Given the description of an element on the screen output the (x, y) to click on. 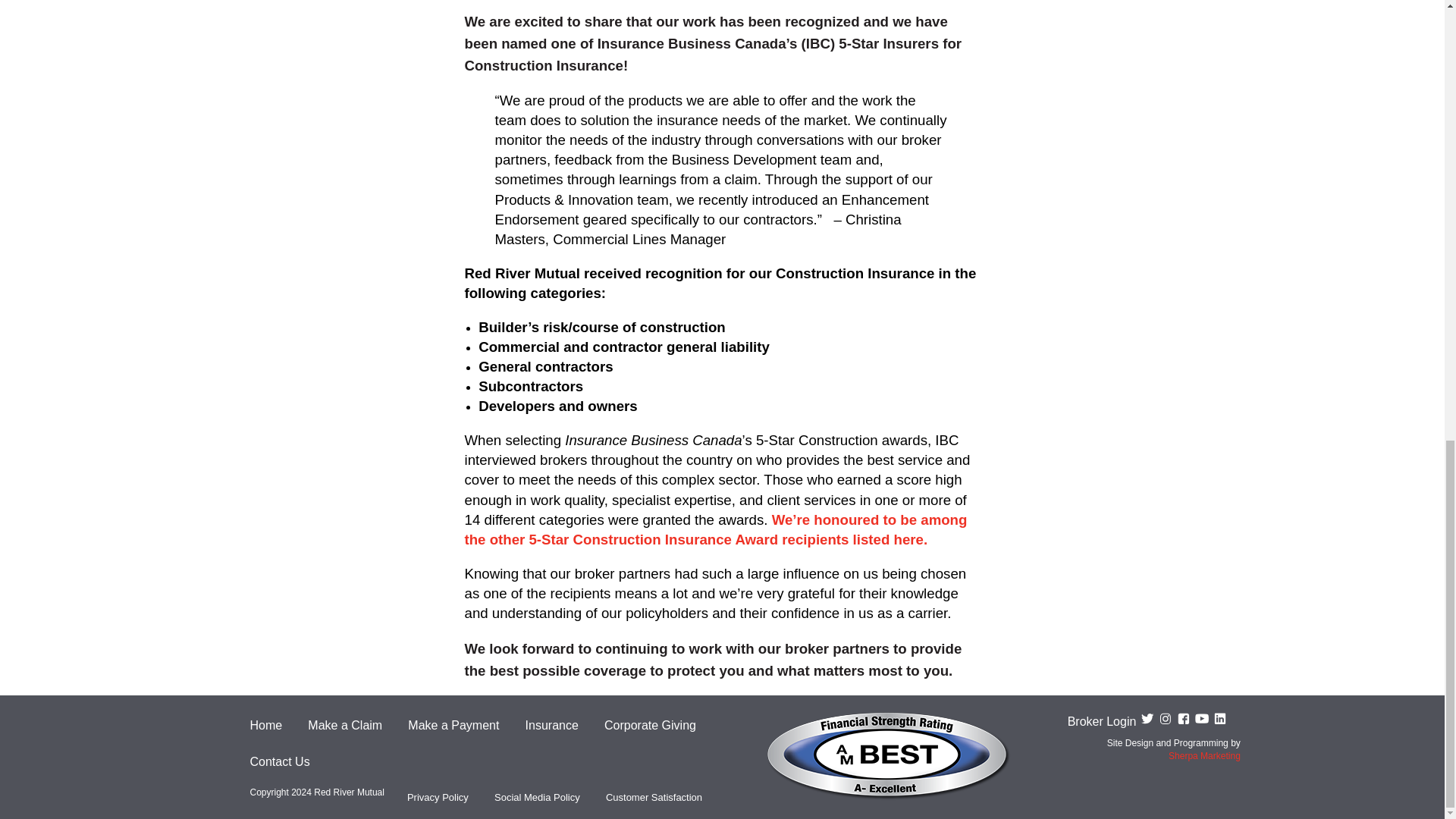
Insurance (551, 725)
Privacy Policy (437, 797)
Make a Payment (453, 725)
Contact Us (280, 761)
Make a Claim (344, 725)
Social Media Policy (537, 797)
Home (266, 725)
Customer Satisfaction (653, 797)
Corporate Giving (649, 725)
Broker Login (1102, 721)
